Given the description of an element on the screen output the (x, y) to click on. 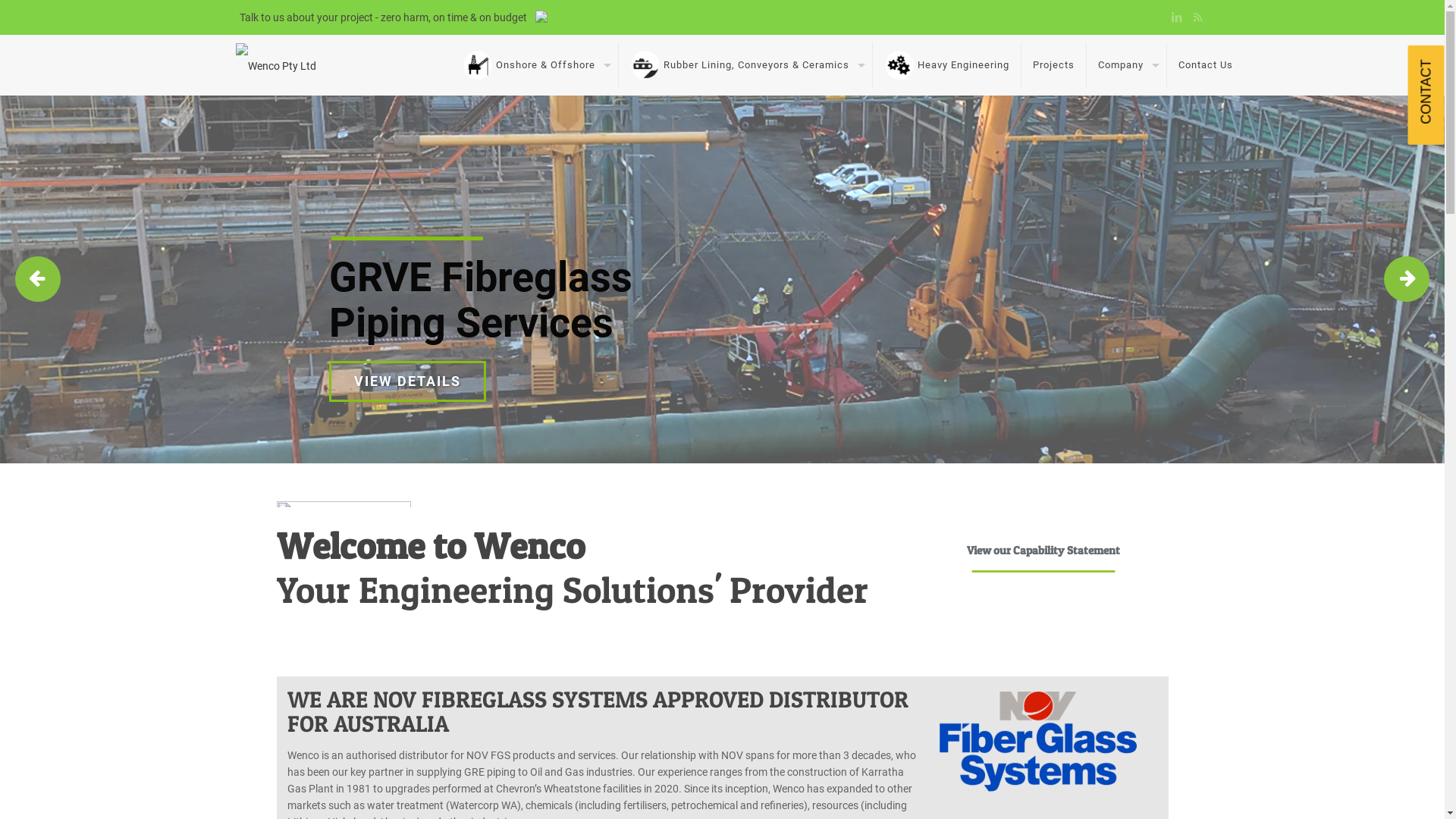
Company Element type: text (1126, 64)
Projects Element type: text (1053, 64)
RSS Element type: hover (1196, 17)
Rubber Lining, Conveyors & Ceramics Element type: text (745, 64)
LinkedIn Element type: hover (1177, 17)
Contact Us Element type: text (1205, 64)
View our Capability Statement Element type: text (1042, 549)
Onshore & Offshore Element type: text (534, 64)
VIEW DETAILS Element type: text (407, 380)
Heavy Engineering Element type: text (946, 64)
Wenco Pty Ltd Element type: hover (275, 64)
